Given the description of an element on the screen output the (x, y) to click on. 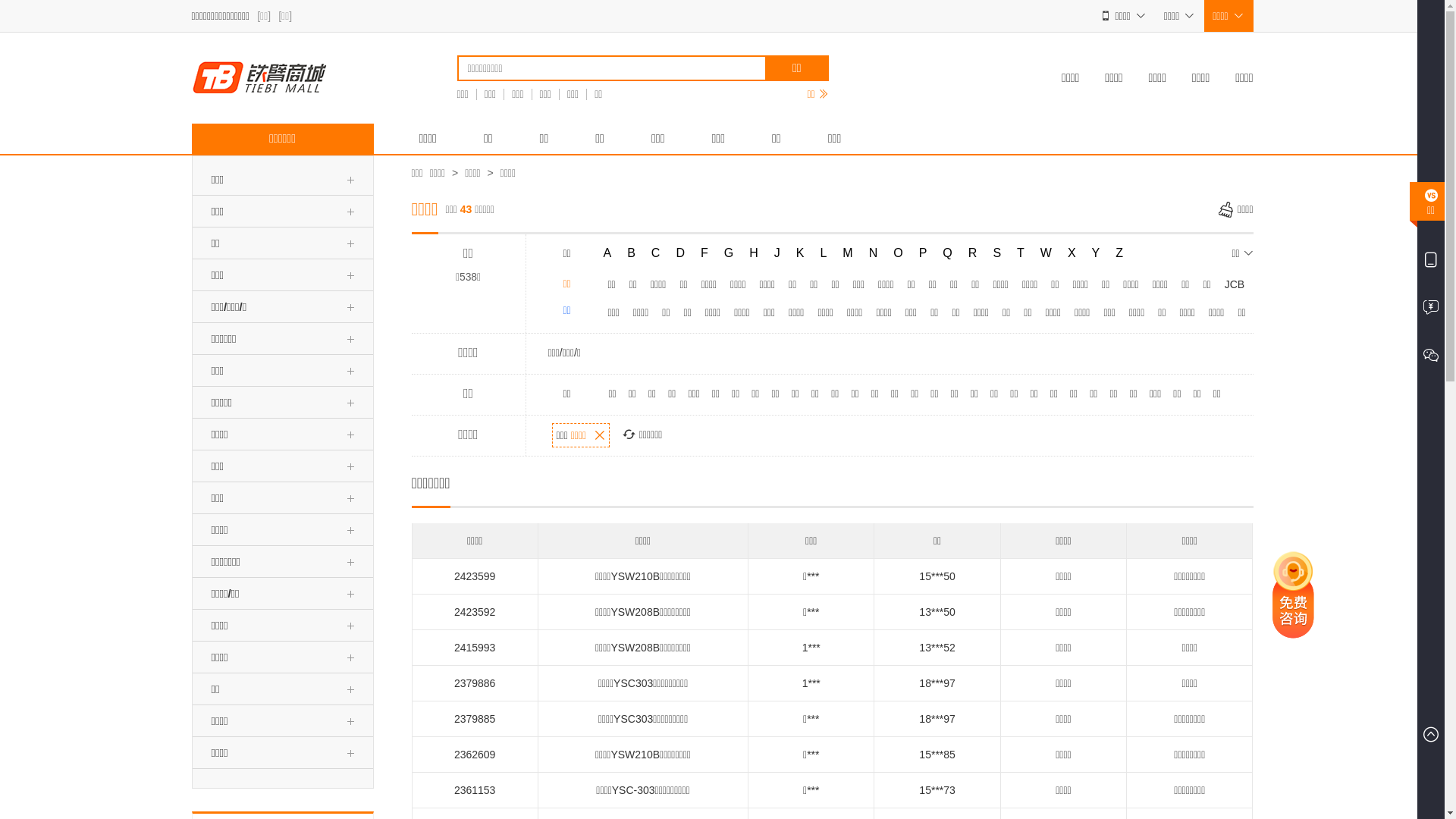
P Element type: text (923, 252)
O Element type: text (897, 252)
L Element type: text (822, 252)
N Element type: text (873, 252)
J Element type: text (777, 252)
X Element type: text (1071, 252)
M Element type: text (847, 252)
S Element type: text (996, 252)
Q Element type: text (946, 252)
W Element type: text (1045, 252)
A Element type: text (607, 252)
K Element type: text (800, 252)
R Element type: text (972, 252)
C Element type: text (655, 252)
T Element type: text (1020, 252)
JCB Element type: text (1234, 284)
F Element type: text (704, 252)
D Element type: text (679, 252)
Z Element type: text (1119, 252)
B Element type: text (631, 252)
G Element type: text (728, 252)
Y Element type: text (1095, 252)
H Element type: text (753, 252)
